Given the description of an element on the screen output the (x, y) to click on. 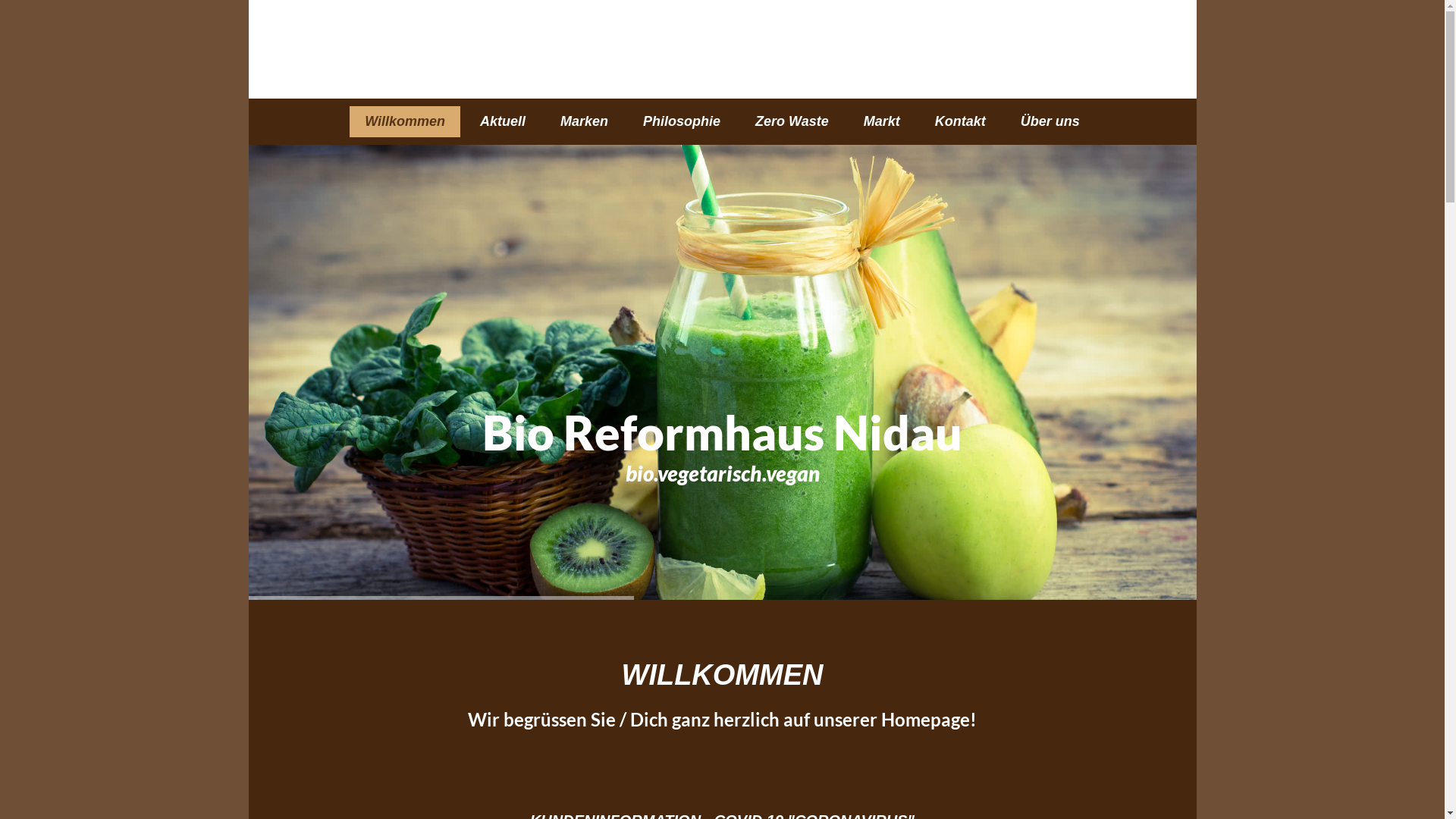
Kontakt Element type: text (960, 121)
Willkommen Element type: text (404, 121)
Zero Waste Element type: text (792, 121)
Aktuell Element type: text (502, 121)
Philosophie Element type: text (681, 121)
Marken Element type: text (584, 121)
Markt Element type: text (881, 121)
